Given the description of an element on the screen output the (x, y) to click on. 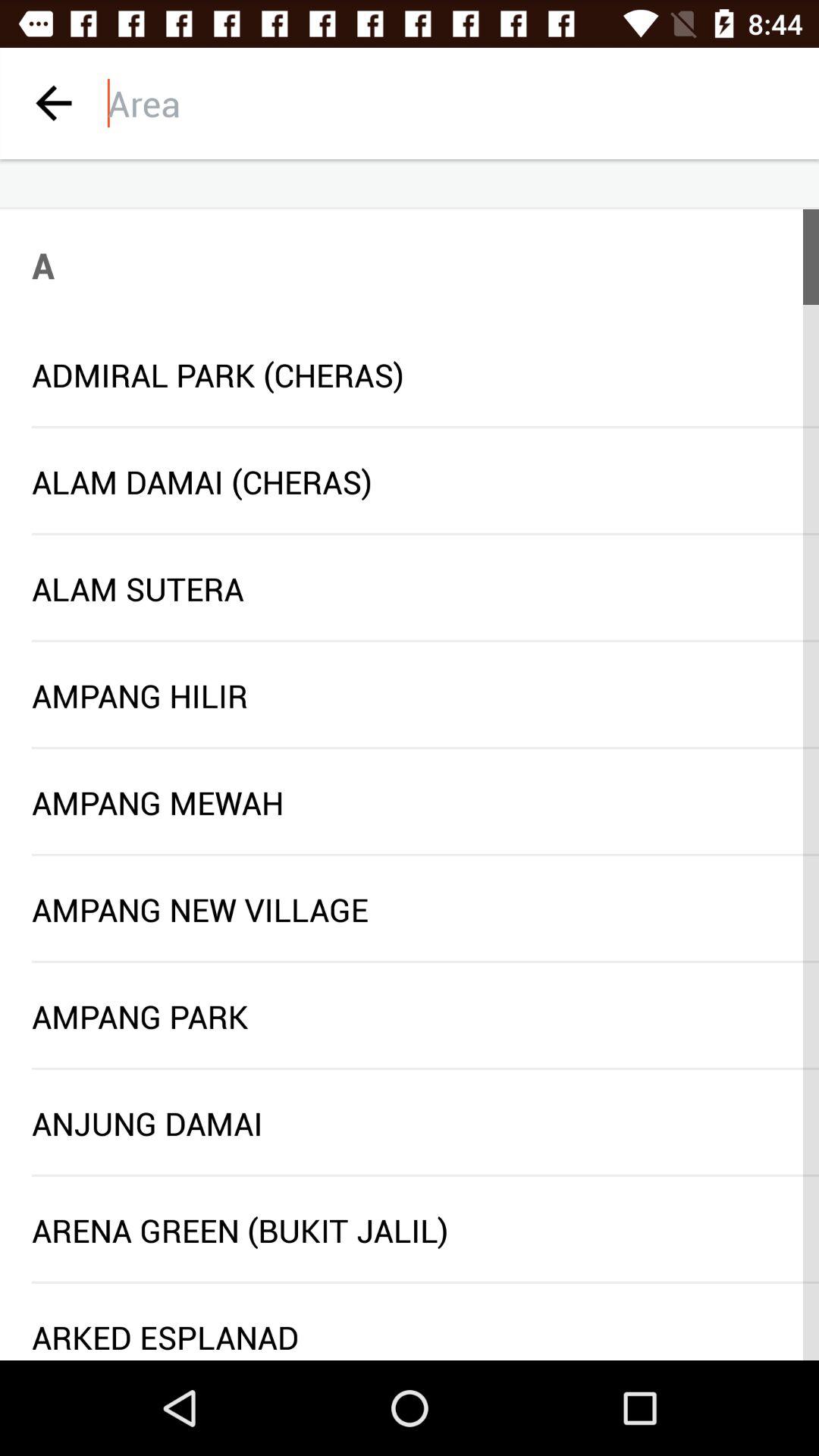
jump to ampang new village item (409, 909)
